Given the description of an element on the screen output the (x, y) to click on. 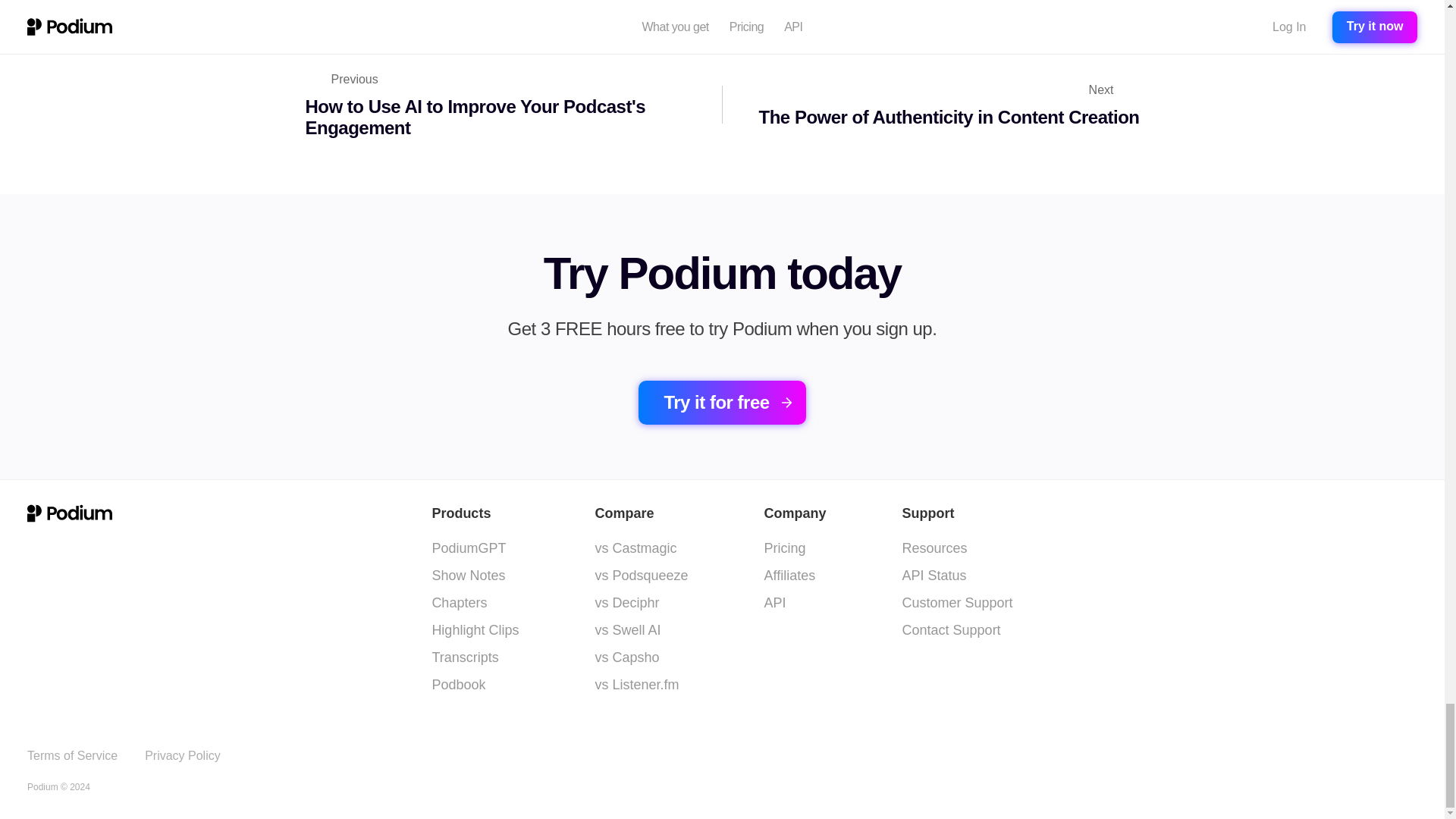
Resources (935, 548)
Podbook (457, 684)
vs Deciphr (509, 105)
Terms of Service (626, 602)
Privacy Policy (72, 755)
Chapters (182, 755)
PodiumGPT (458, 602)
vs Podsqueeze (467, 548)
